Given the description of an element on the screen output the (x, y) to click on. 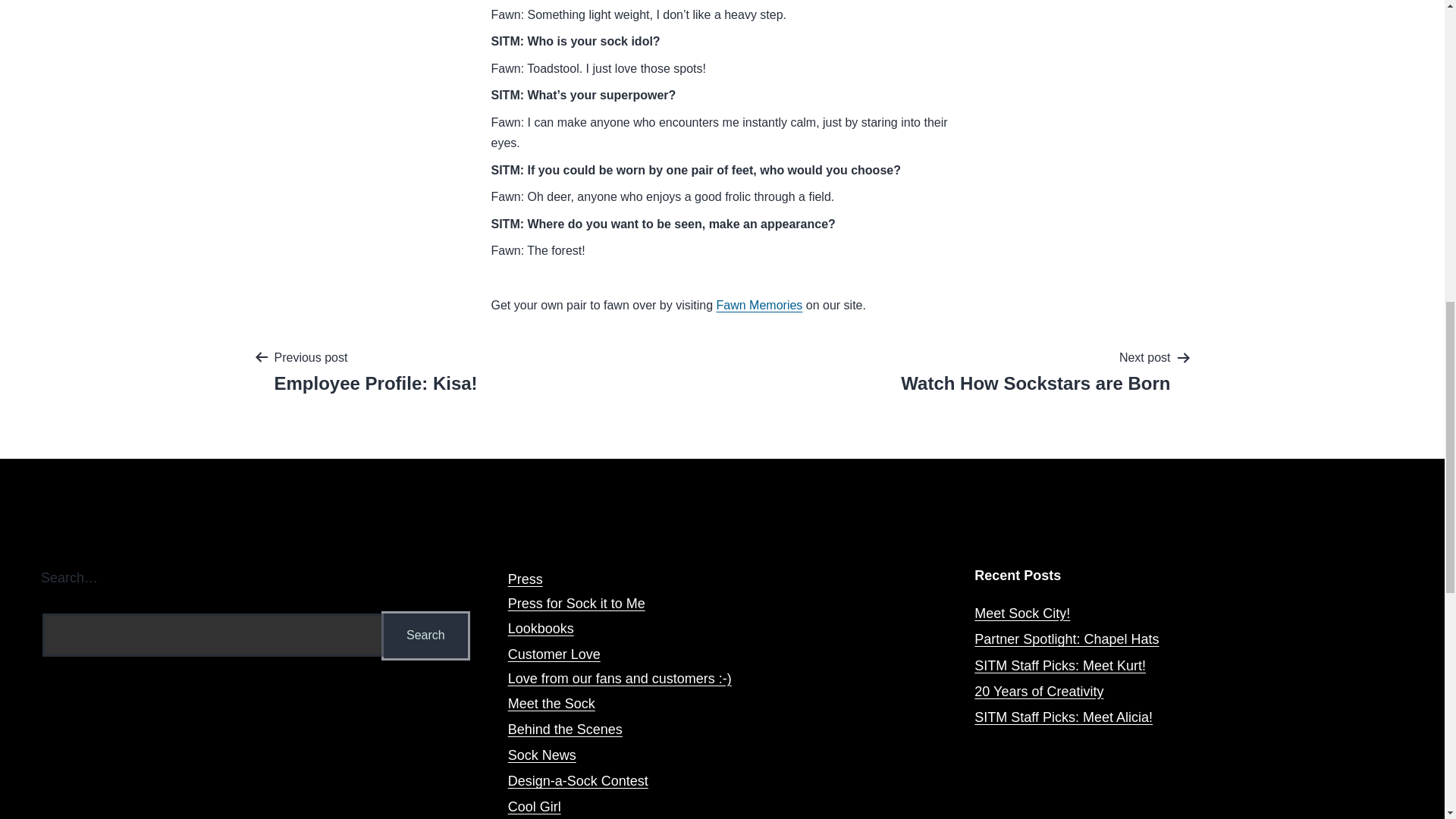
Partner Spotlight: Chapel Hats (1066, 639)
Search (425, 635)
Lookbooks (540, 628)
Behind the Scenes (565, 729)
Fawn Memories (759, 305)
SITM Staff Picks: Meet Kurt! (1059, 665)
SITM Staff Picks: Meet Alicia! (1035, 370)
Meet Sock City! (1063, 717)
Search (722, 593)
Meet the Sock (1022, 613)
Search (425, 635)
Sock News (551, 703)
20 Years of Creativity (425, 635)
